Given the description of an element on the screen output the (x, y) to click on. 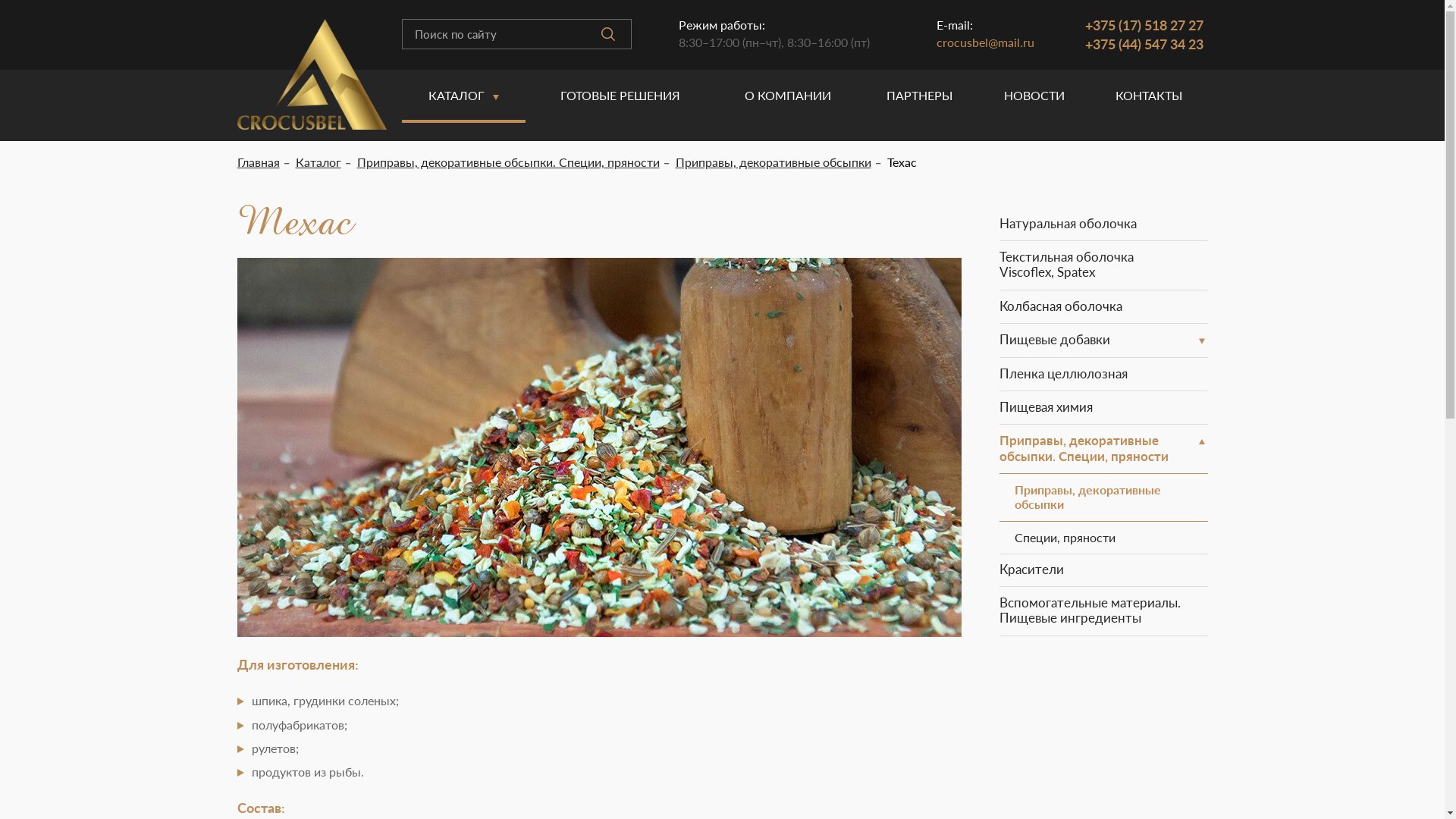
+375 (17) 518 27 27 Element type: text (1144, 24)
crocusbel@mail.ru Element type: text (985, 41)
+375 (44) 547 34 23 Element type: text (1144, 43)
